Given the description of an element on the screen output the (x, y) to click on. 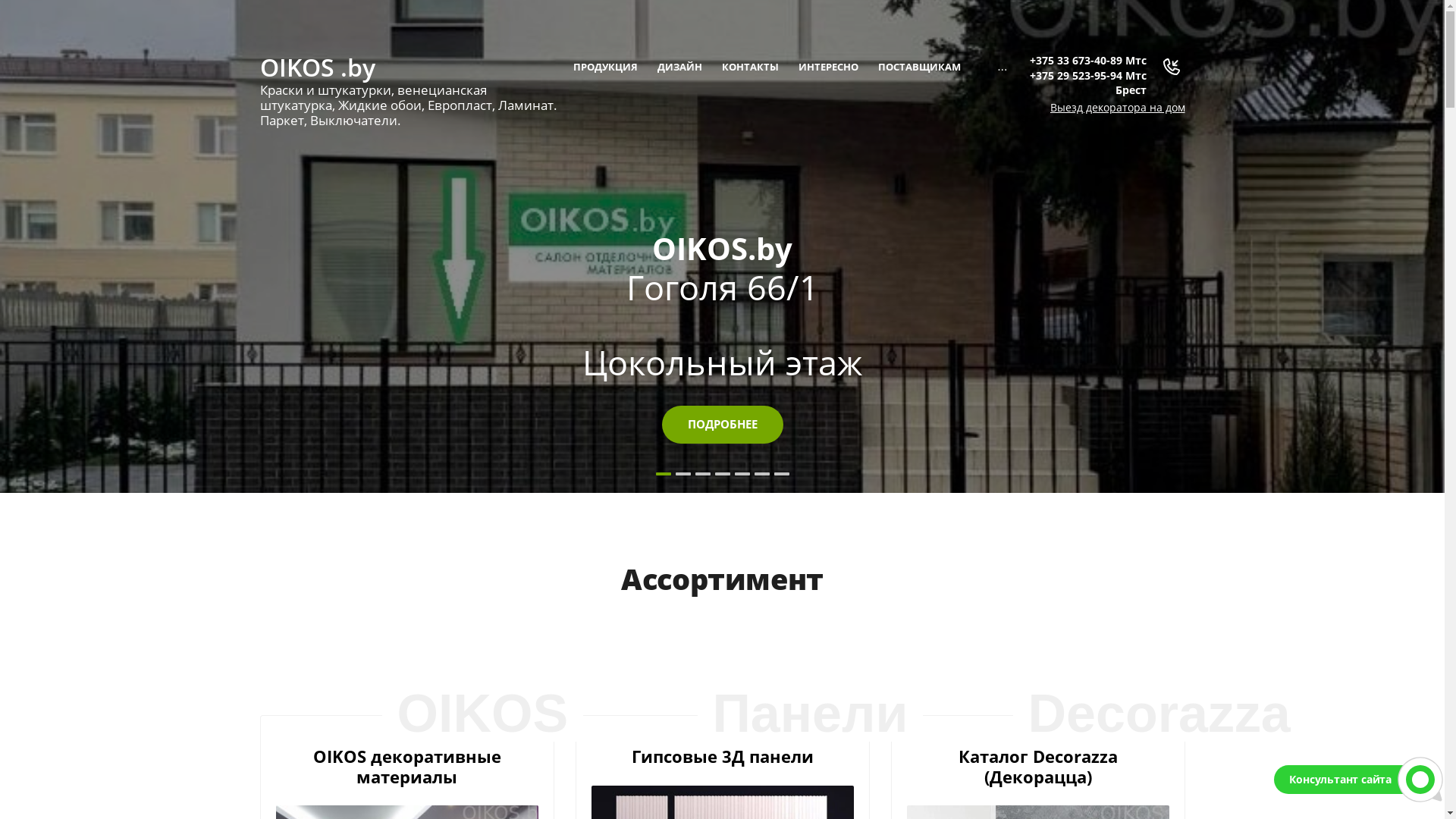
Orac Decor Element type: text (721, 248)
OIKOS .by Element type: text (410, 67)
... Element type: text (1001, 66)
